Given the description of an element on the screen output the (x, y) to click on. 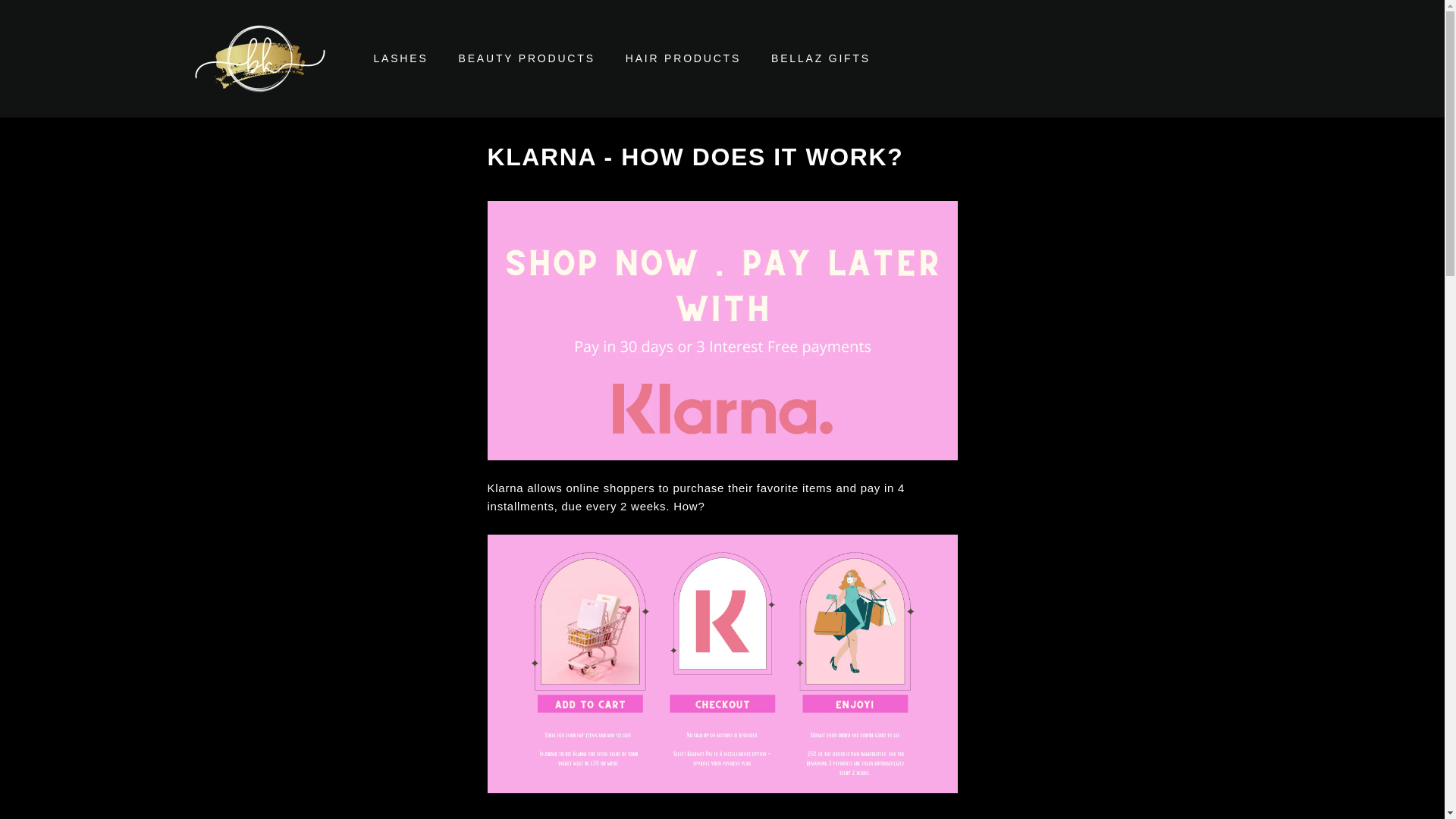
HAIR PRODUCTS (682, 57)
LASHES (400, 57)
BELLAZ GIFTS (820, 57)
BEAUTY PRODUCTS (527, 57)
